Given the description of an element on the screen output the (x, y) to click on. 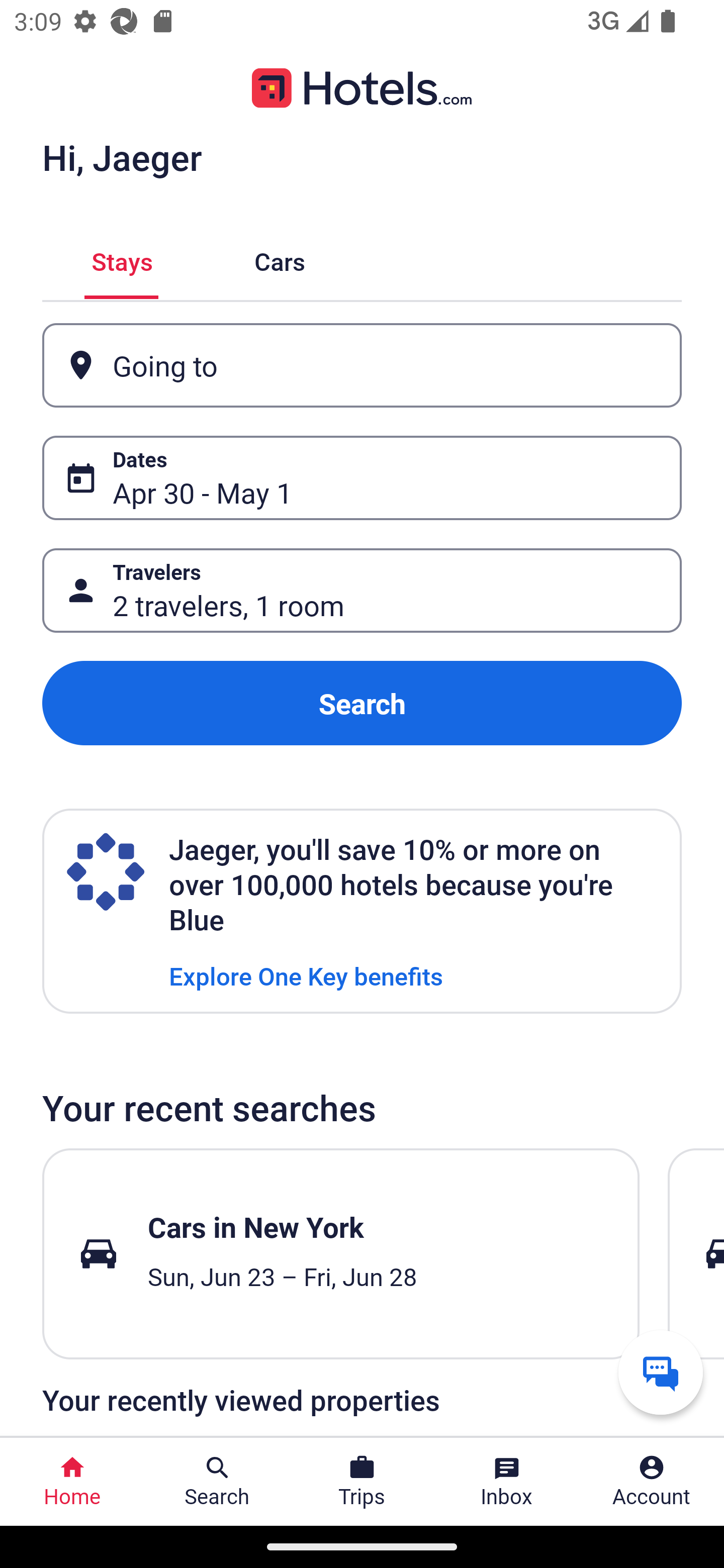
Hi, Jaeger (121, 156)
Cars (279, 259)
Going to Button (361, 365)
Dates Button Apr 30 - May 1 (361, 477)
Travelers Button 2 travelers, 1 room (361, 590)
Search (361, 702)
Get help from a virtual agent (660, 1371)
Search Search Button (216, 1481)
Trips Trips Button (361, 1481)
Inbox Inbox Button (506, 1481)
Account Profile. Button (651, 1481)
